Given the description of an element on the screen output the (x, y) to click on. 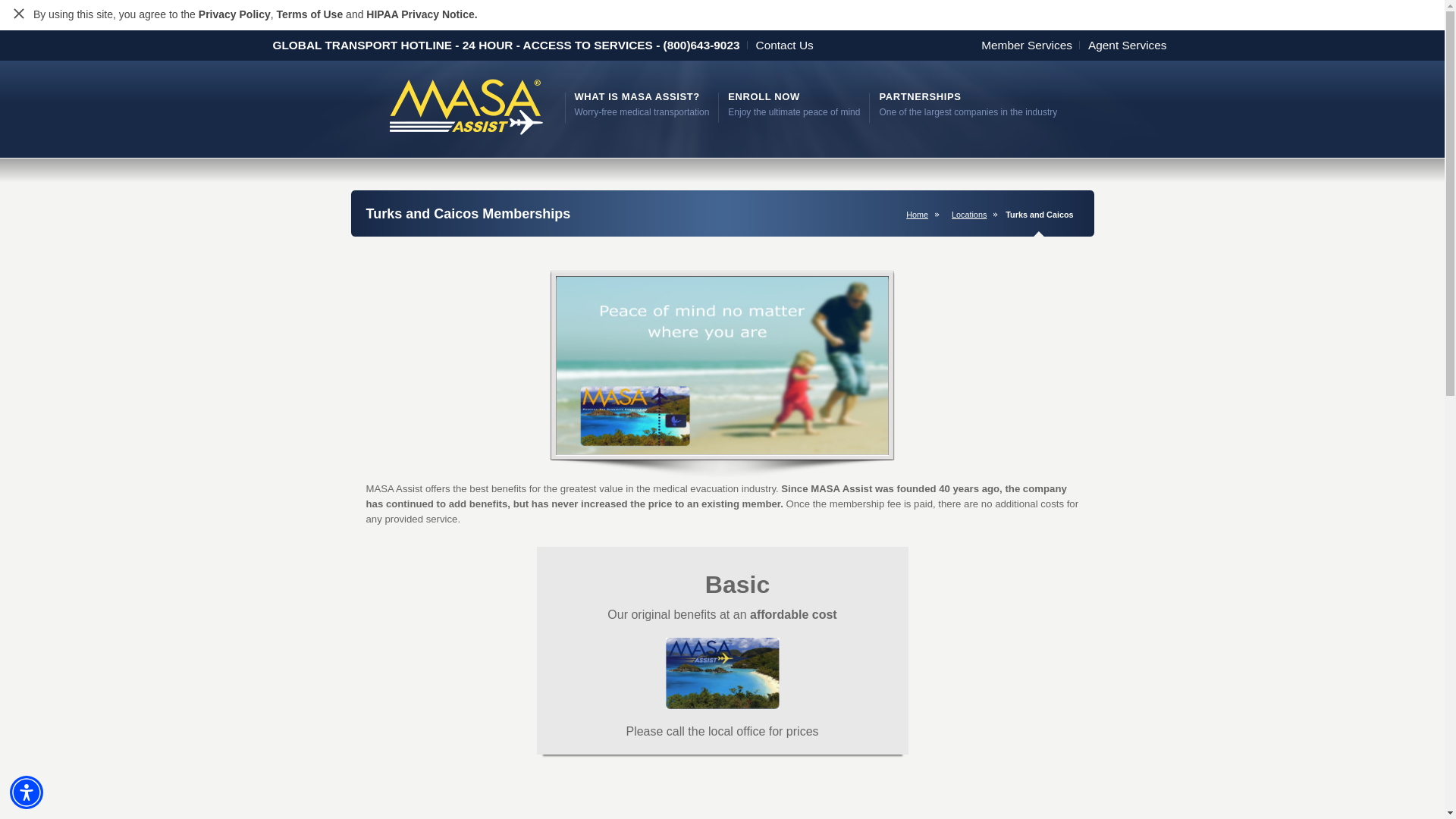
Home (920, 214)
Agent Services (1130, 44)
Member Services (642, 104)
Accessibility Menu (968, 104)
HIPAA Privacy Notice. (1030, 44)
Close (26, 792)
Locations (421, 14)
Close (18, 13)
Terms of Use (971, 214)
Privacy Policy (18, 15)
BENEFITS (309, 14)
Contact Us (234, 14)
